Given the description of an element on the screen output the (x, y) to click on. 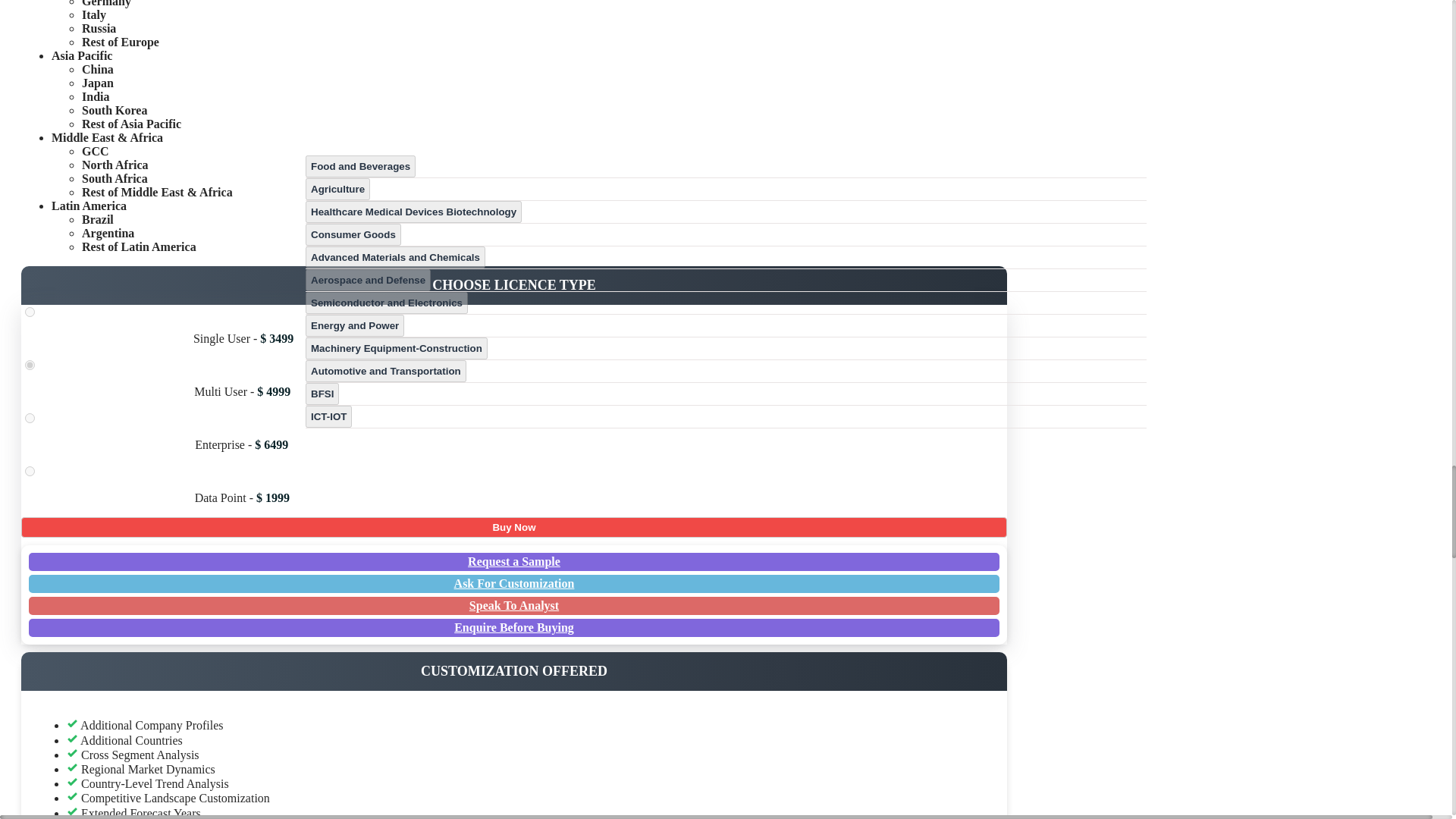
6499 (29, 418)
4999 (29, 365)
1999 (29, 470)
3499 (29, 311)
